Given the description of an element on the screen output the (x, y) to click on. 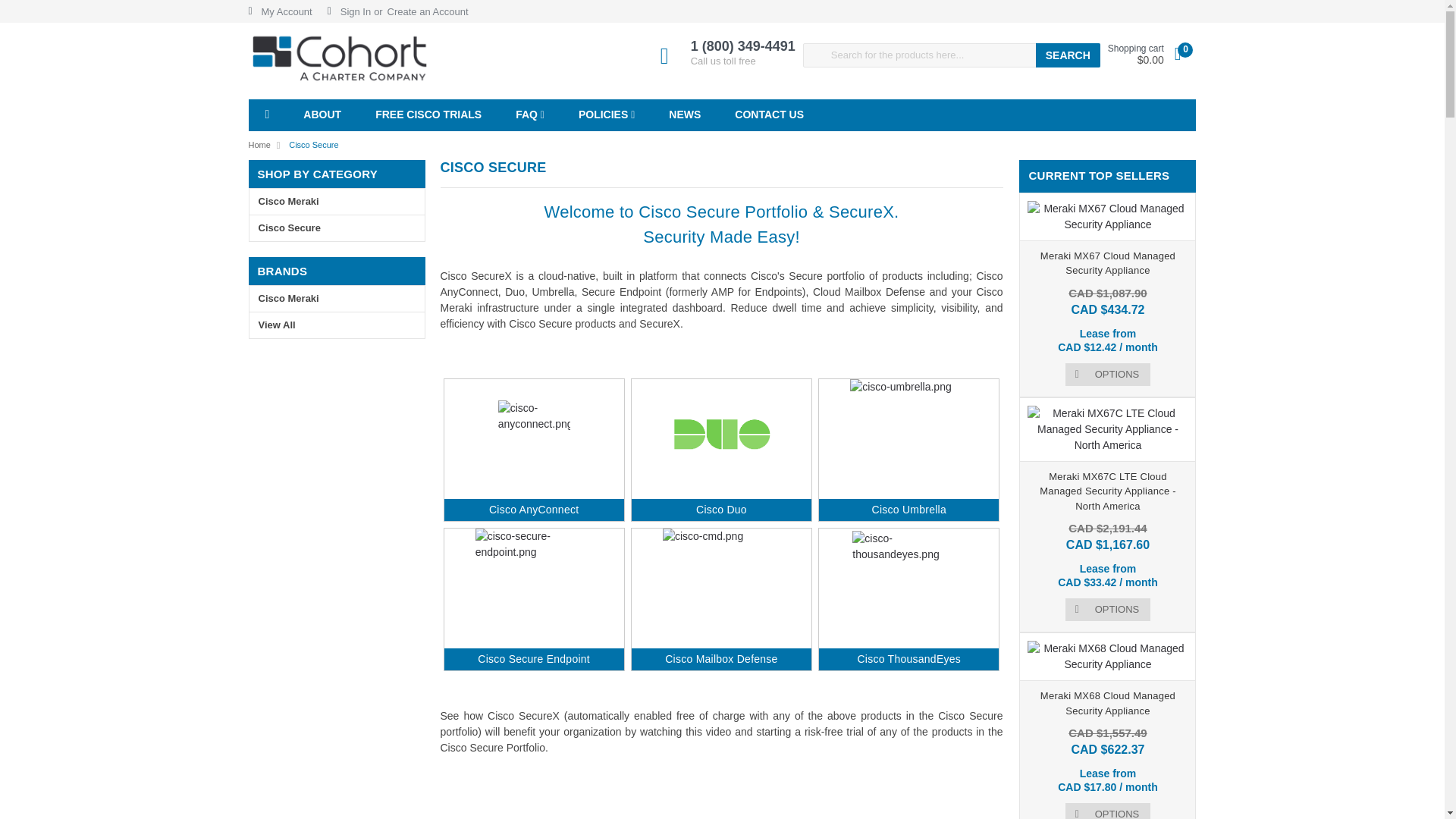
Shop Cisco AnyConnect (533, 436)
Shop Cisco AnyConnect (533, 509)
Shop Cisco Umbrella (909, 436)
Shop Cisco ThousandEyes (908, 658)
Shop Cisco Mailbox Defense (721, 658)
Shop Cisco Umbrella (909, 509)
COHORT.CA (339, 61)
Shop Cisco Mailbox Defense (721, 585)
Shop Cisco Secure Endpoint (533, 658)
Shop Cisco Duo (720, 509)
